Given the description of an element on the screen output the (x, y) to click on. 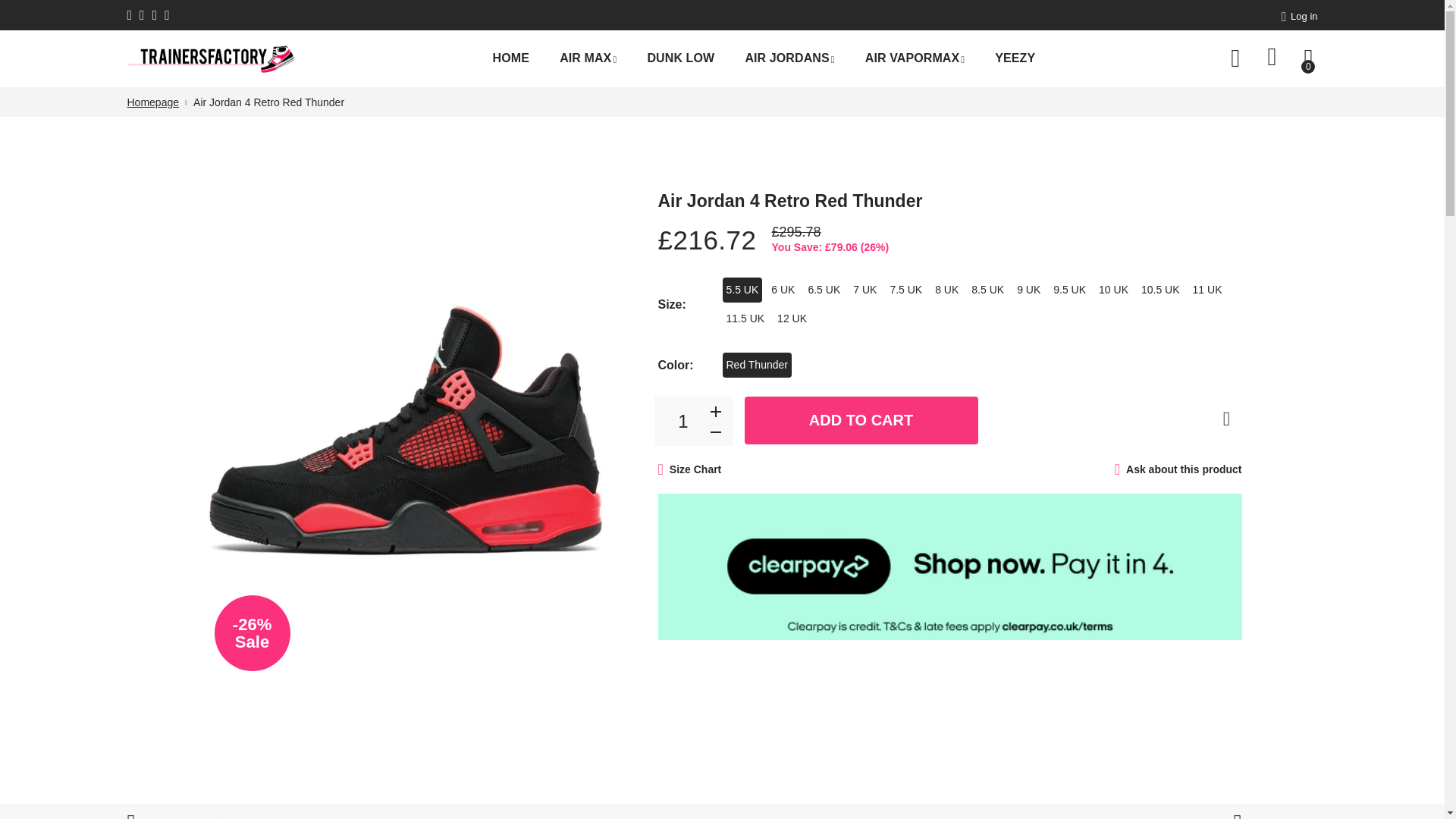
HOME (510, 58)
Trainers Factory on Facebook (141, 15)
AIR JORDANS (788, 58)
Trainers Factory on Pinterest (166, 15)
Wishlist (1271, 58)
AIR MAX (587, 58)
Search (1235, 58)
DUNK LOW (680, 58)
Trainers Factory on Email (128, 15)
Log in (1299, 16)
Log in (1299, 16)
Your cart (1310, 58)
Trainers Factory on Instagram (154, 15)
AIR VAPORMAX (914, 58)
Homepage (153, 102)
